Given the description of an element on the screen output the (x, y) to click on. 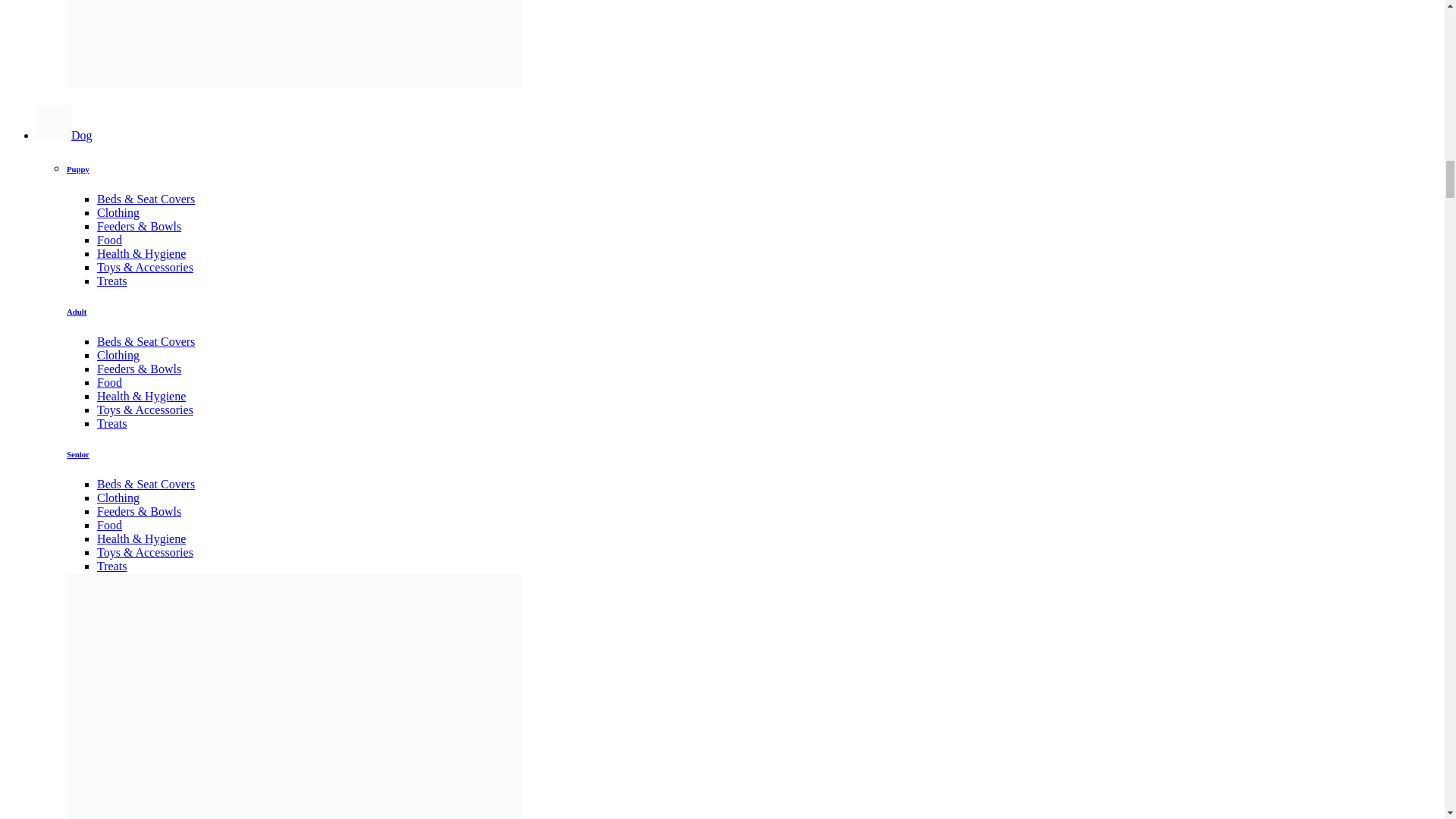
Clothing (118, 212)
Dog (64, 134)
Puppy (77, 168)
Food (109, 239)
